Given the description of an element on the screen output the (x, y) to click on. 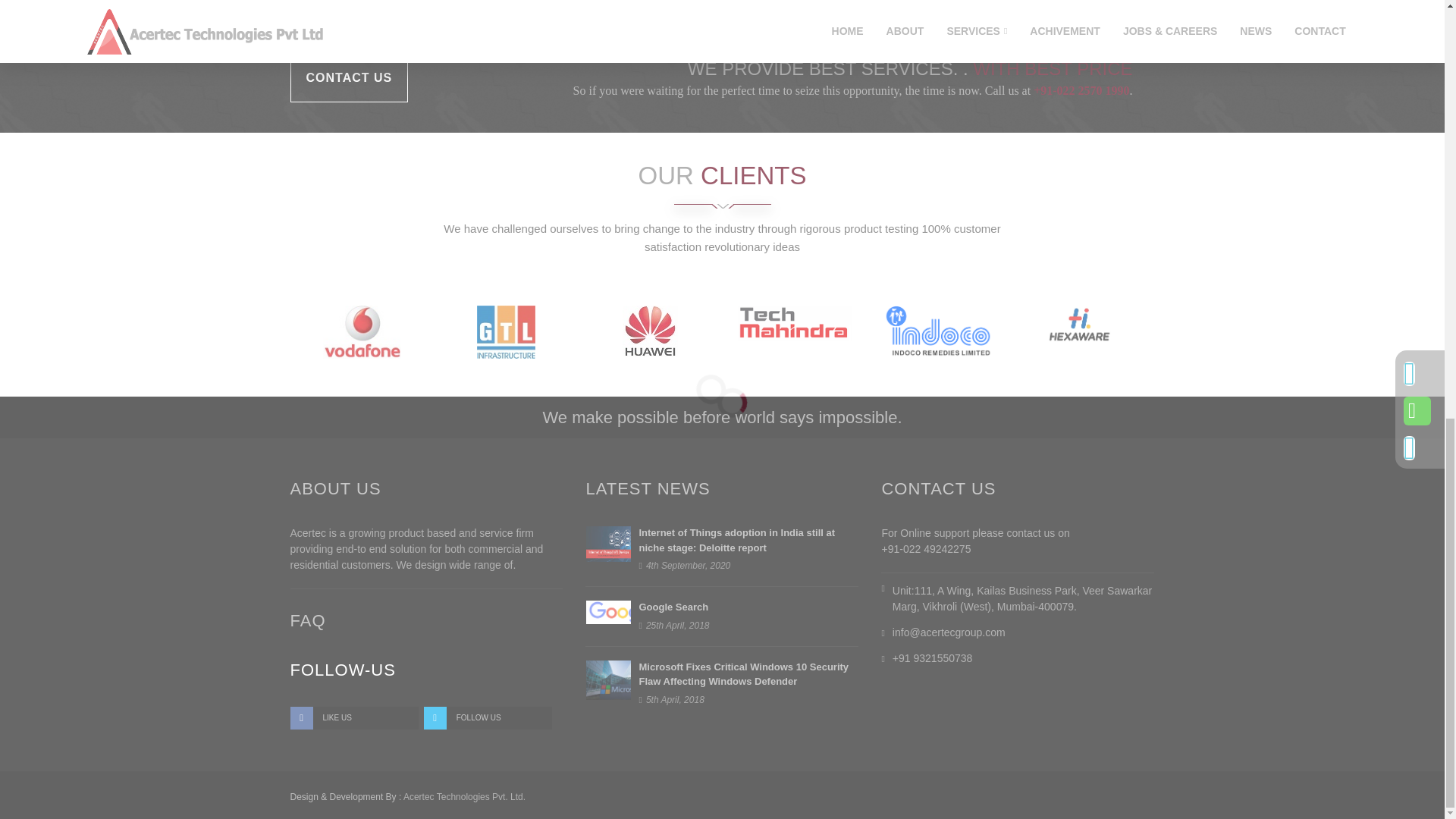
LATEST NEWS (647, 488)
FOLLOW US (487, 717)
LIKE US (353, 717)
Google Search (673, 606)
CONTACT US (348, 78)
FAQ (306, 619)
Twitter (487, 717)
Facebook (353, 717)
ABOUT US (334, 488)
